Given the description of an element on the screen output the (x, y) to click on. 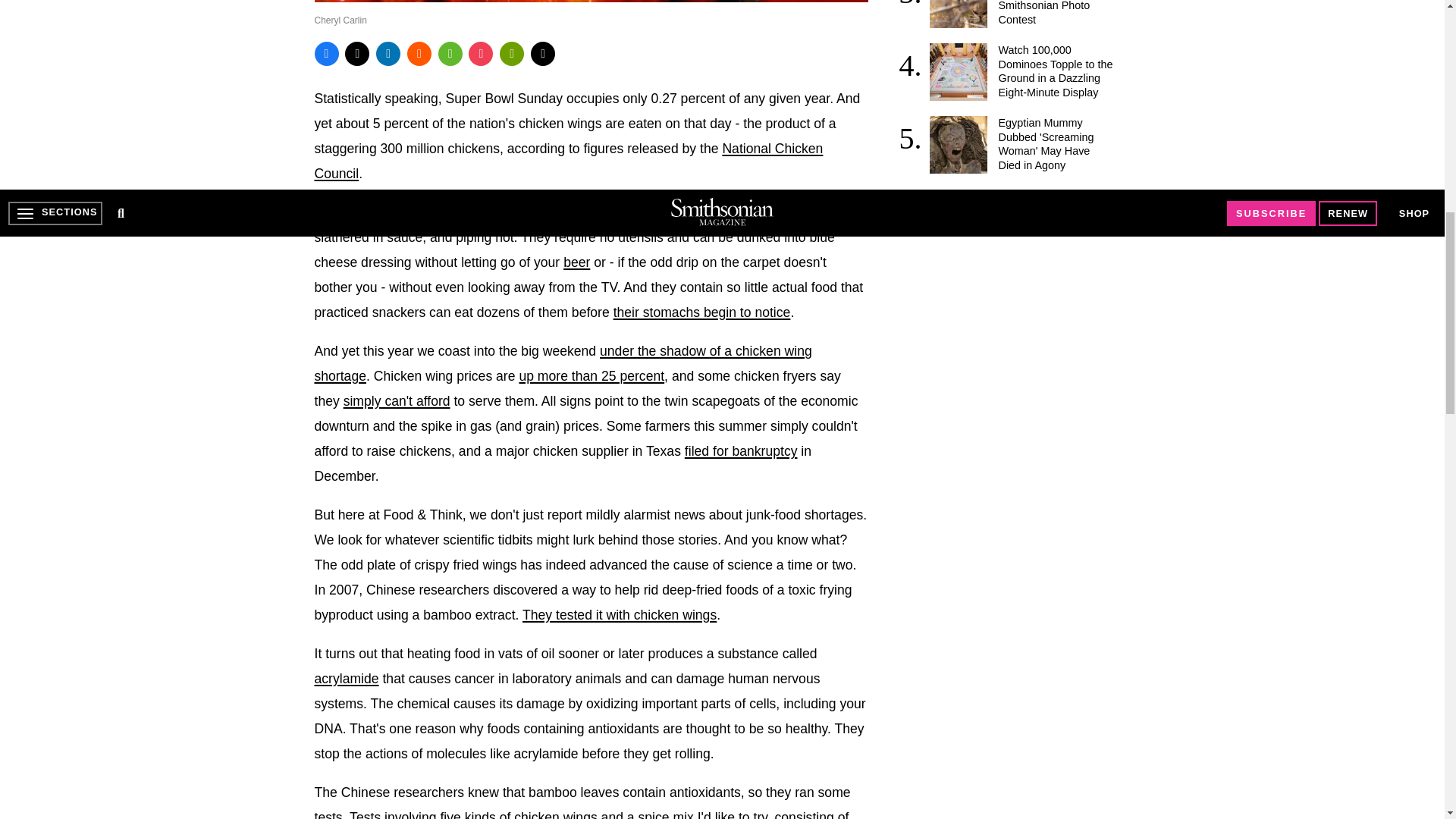
Facebook (325, 53)
Food and Think (576, 262)
Pocket (480, 53)
Food and Think (701, 312)
Twitter (357, 53)
WhatsApp (450, 53)
Reddit (418, 53)
Sports Rubbish (562, 363)
National Chicken Council (568, 160)
Print (511, 53)
National Chicken Council (590, 376)
Ingenta Connect (619, 614)
Email (542, 53)
LinkedIn (387, 53)
UPL.com (396, 400)
